Given the description of an element on the screen output the (x, y) to click on. 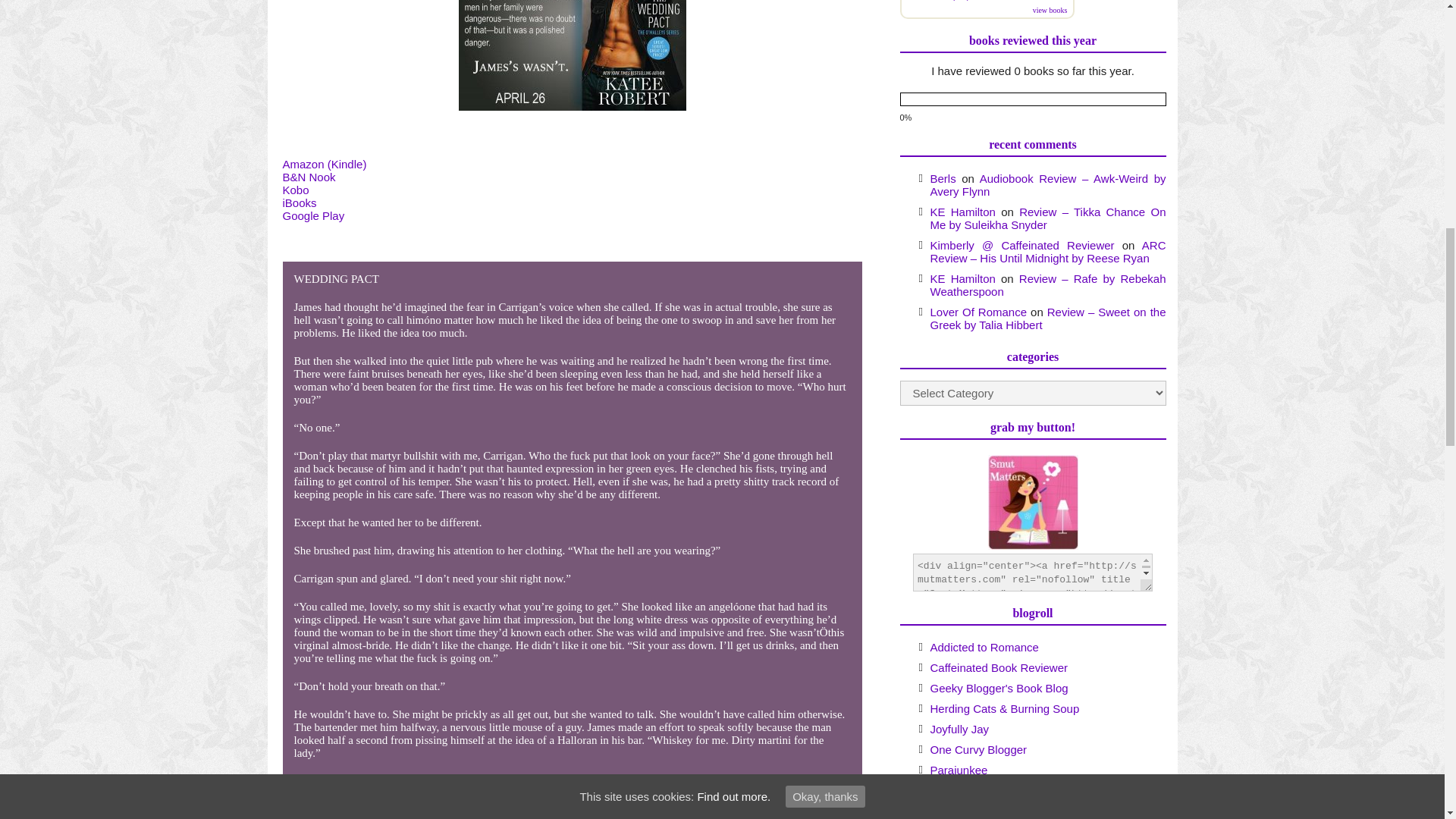
Kobo (295, 189)
Smut Matters (1032, 502)
iBooks (298, 202)
Google Play (312, 215)
